Given the description of an element on the screen output the (x, y) to click on. 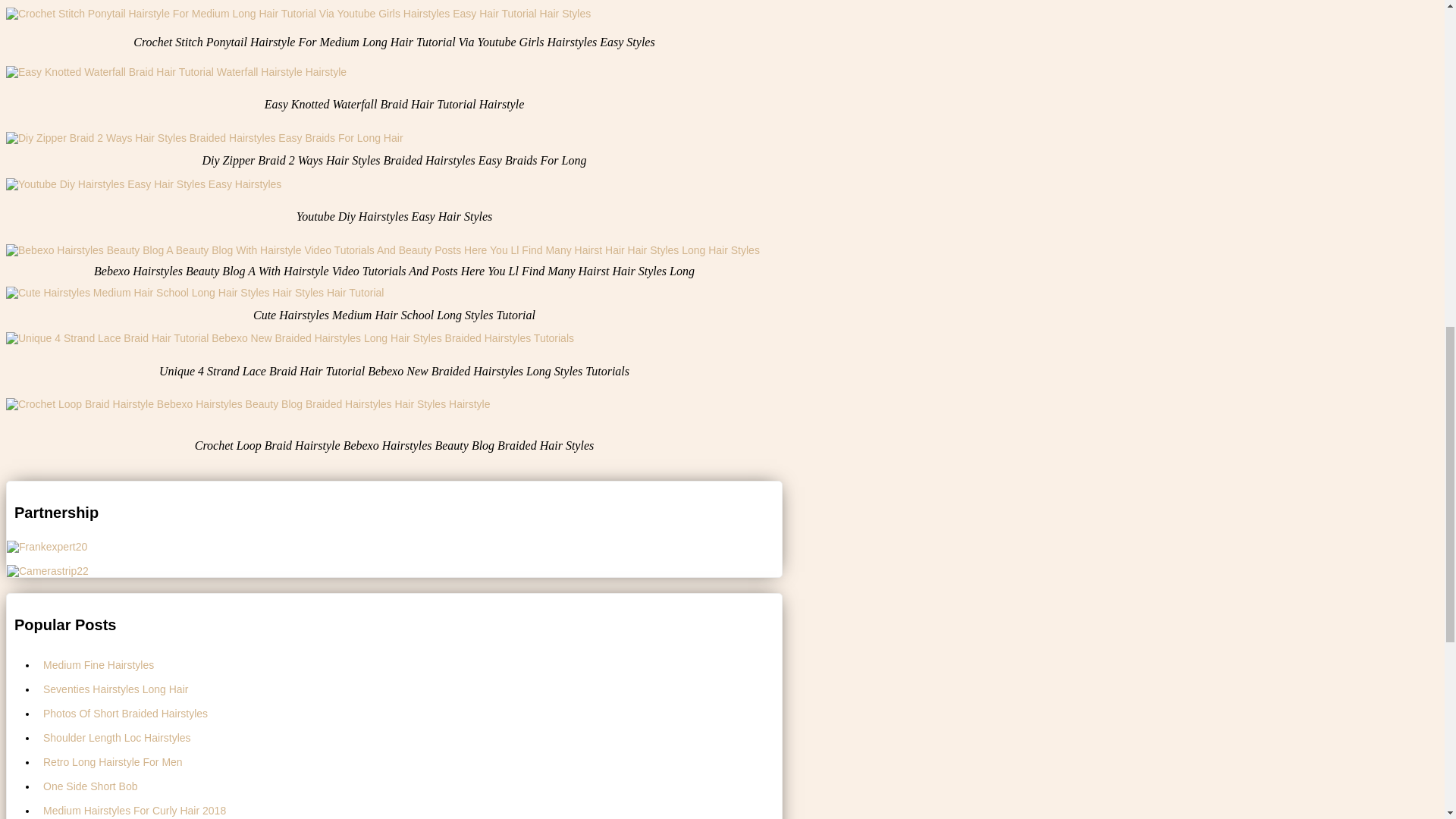
Retro Long Hairstyle For Men (409, 761)
Frankexpert20 (47, 546)
Medium Fine Hairstyles (409, 664)
Seventies Hairstyles Long Hair (409, 689)
Shoulder Length Loc Hairstyles (409, 737)
One Side Short Bob (409, 785)
Camerastrip22 (47, 571)
Medium Hairstyles For Curly Hair 2018 (409, 808)
Photos Of Short Braided Hairstyles (409, 713)
